Given the description of an element on the screen output the (x, y) to click on. 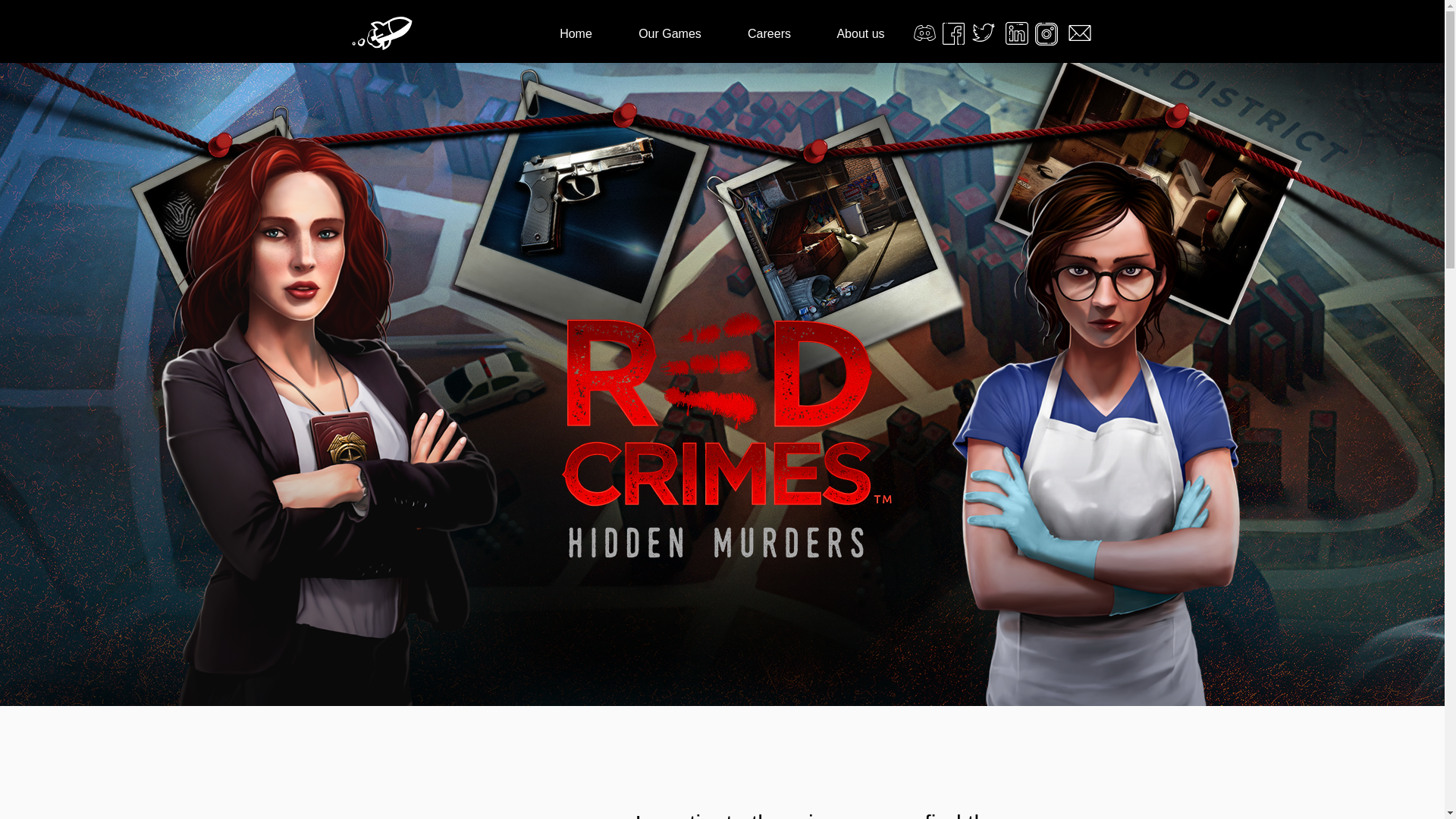
Home (576, 33)
Our Games (670, 33)
About us (860, 33)
Careers (769, 33)
